Given the description of an element on the screen output the (x, y) to click on. 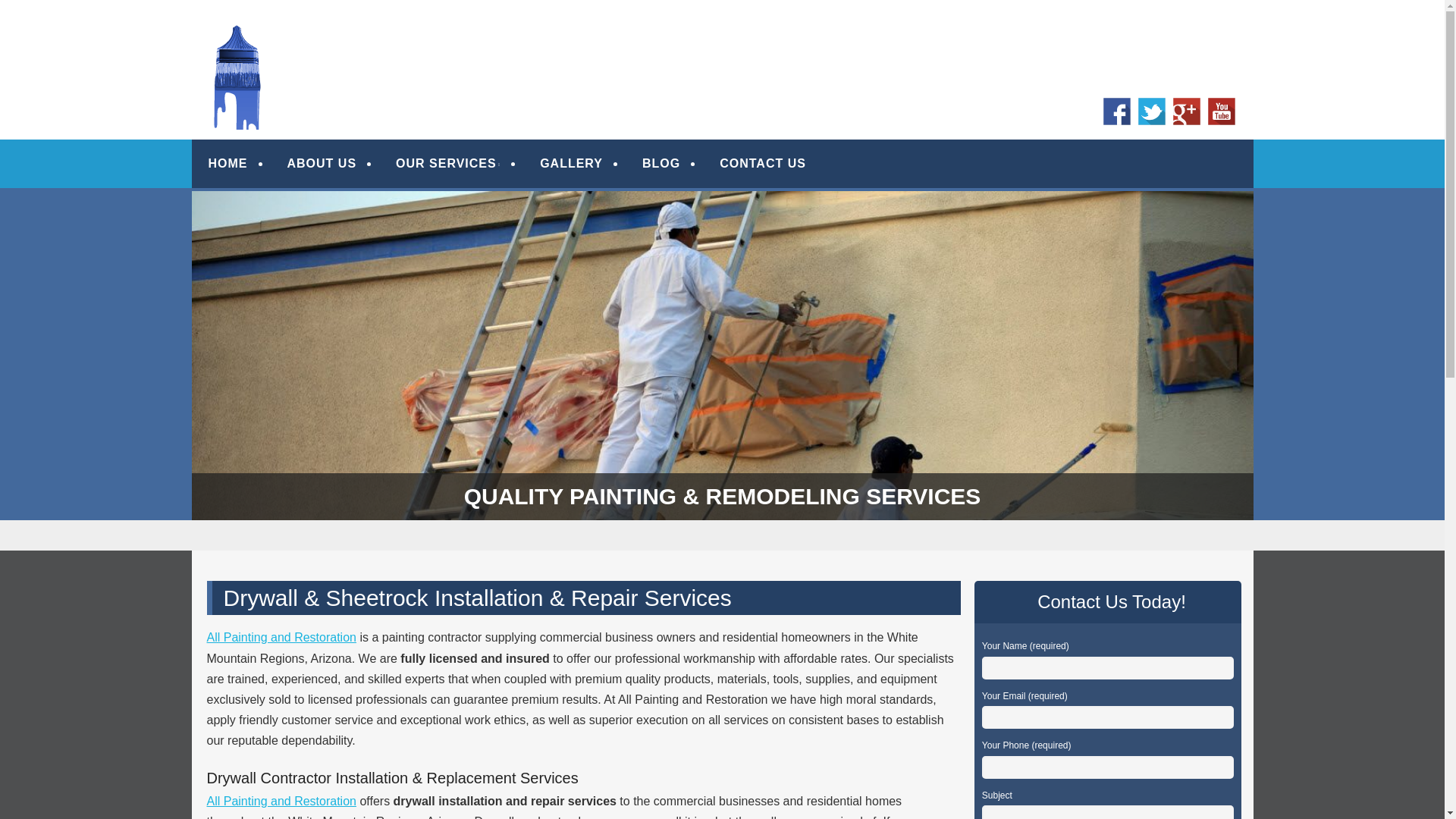
GALLERY (571, 163)
BLOG (660, 163)
OUR SERVICES (448, 163)
All Painting and Restoration (280, 636)
ABOUT US (321, 163)
HOME (227, 163)
All Painting and Restoration (280, 800)
CONTACT US (762, 163)
